Given the description of an element on the screen output the (x, y) to click on. 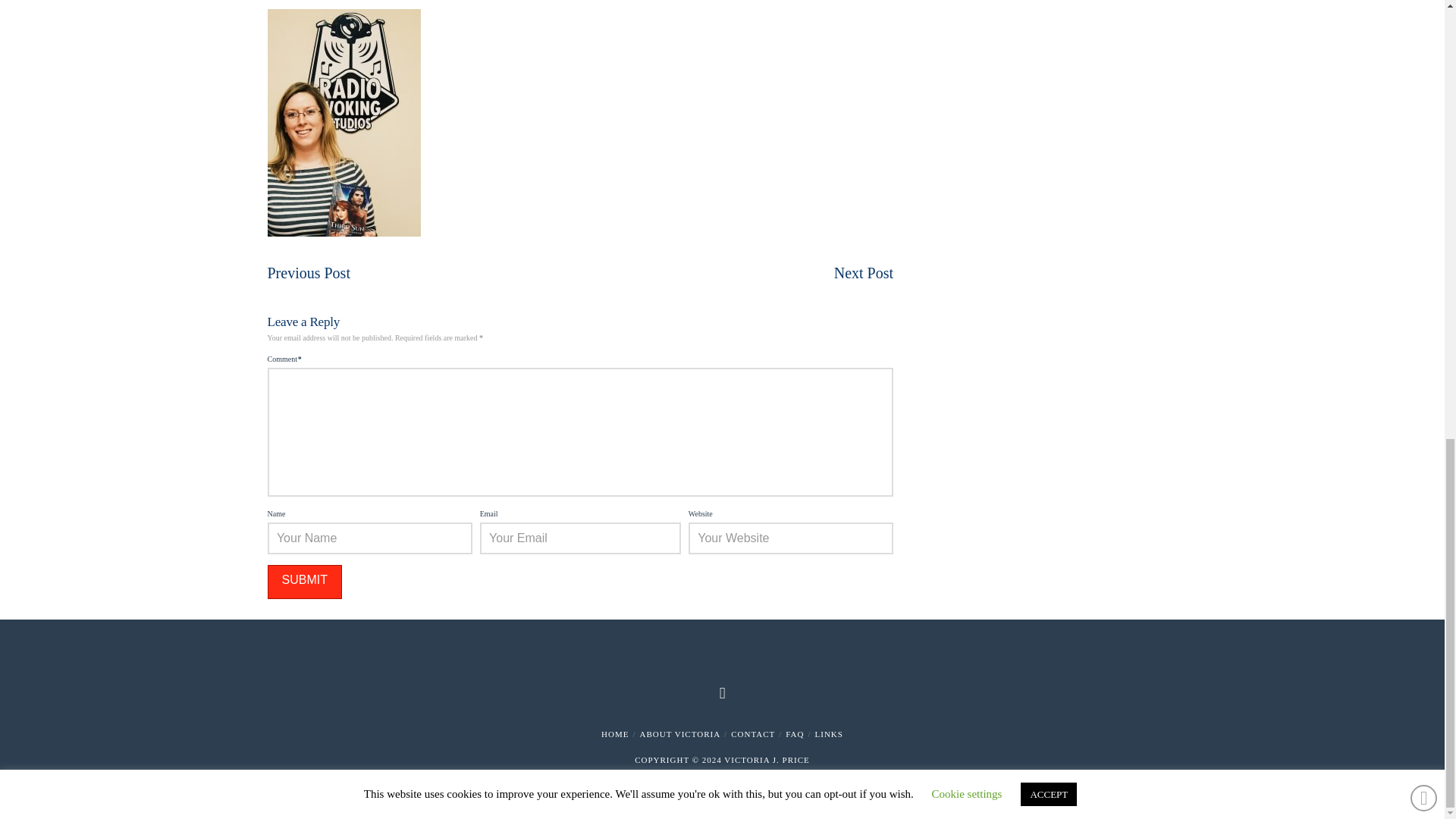
Submit (303, 581)
Previous Post (307, 272)
ABOUT VICTORIA (680, 733)
Next Post (863, 272)
LINKS (829, 733)
HOME (614, 733)
FAQ (794, 733)
Submit (303, 581)
Instagram (721, 692)
CONTACT (752, 733)
